Given the description of an element on the screen output the (x, y) to click on. 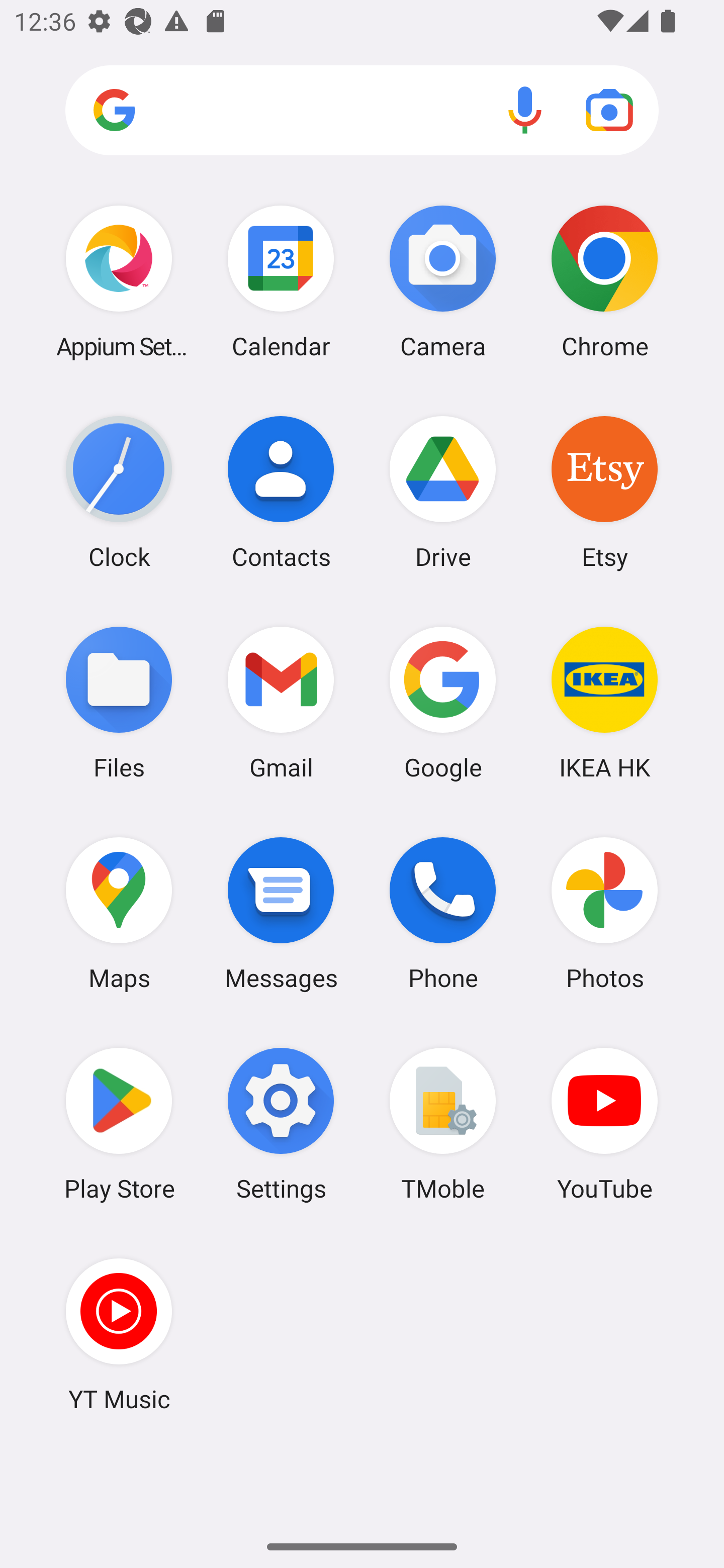
Search apps, web and more (361, 110)
Voice search (524, 109)
Google Lens (608, 109)
Appium Settings (118, 281)
Calendar (280, 281)
Camera (443, 281)
Chrome (604, 281)
Clock (118, 492)
Contacts (280, 492)
Drive (443, 492)
Etsy (604, 492)
Files (118, 702)
Gmail (280, 702)
Google (443, 702)
IKEA HK (604, 702)
Maps (118, 913)
Messages (280, 913)
Phone (443, 913)
Photos (604, 913)
Play Store (118, 1124)
Settings (280, 1124)
TMoble (443, 1124)
YouTube (604, 1124)
YT Music (118, 1334)
